Given the description of an element on the screen output the (x, y) to click on. 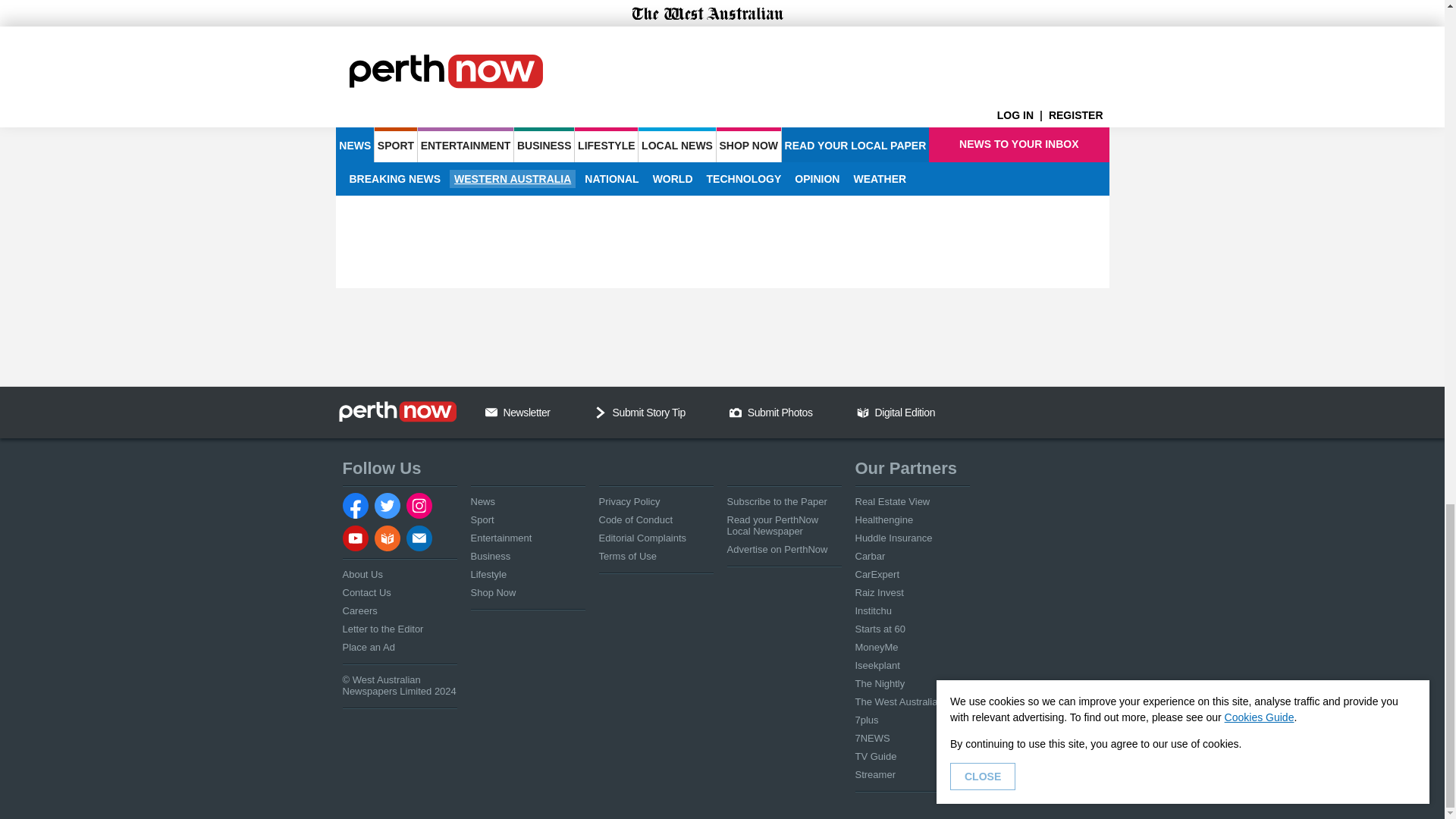
Camera Icon (735, 412)
Email Us (490, 412)
Chevron Down Icon (600, 412)
